Given the description of an element on the screen output the (x, y) to click on. 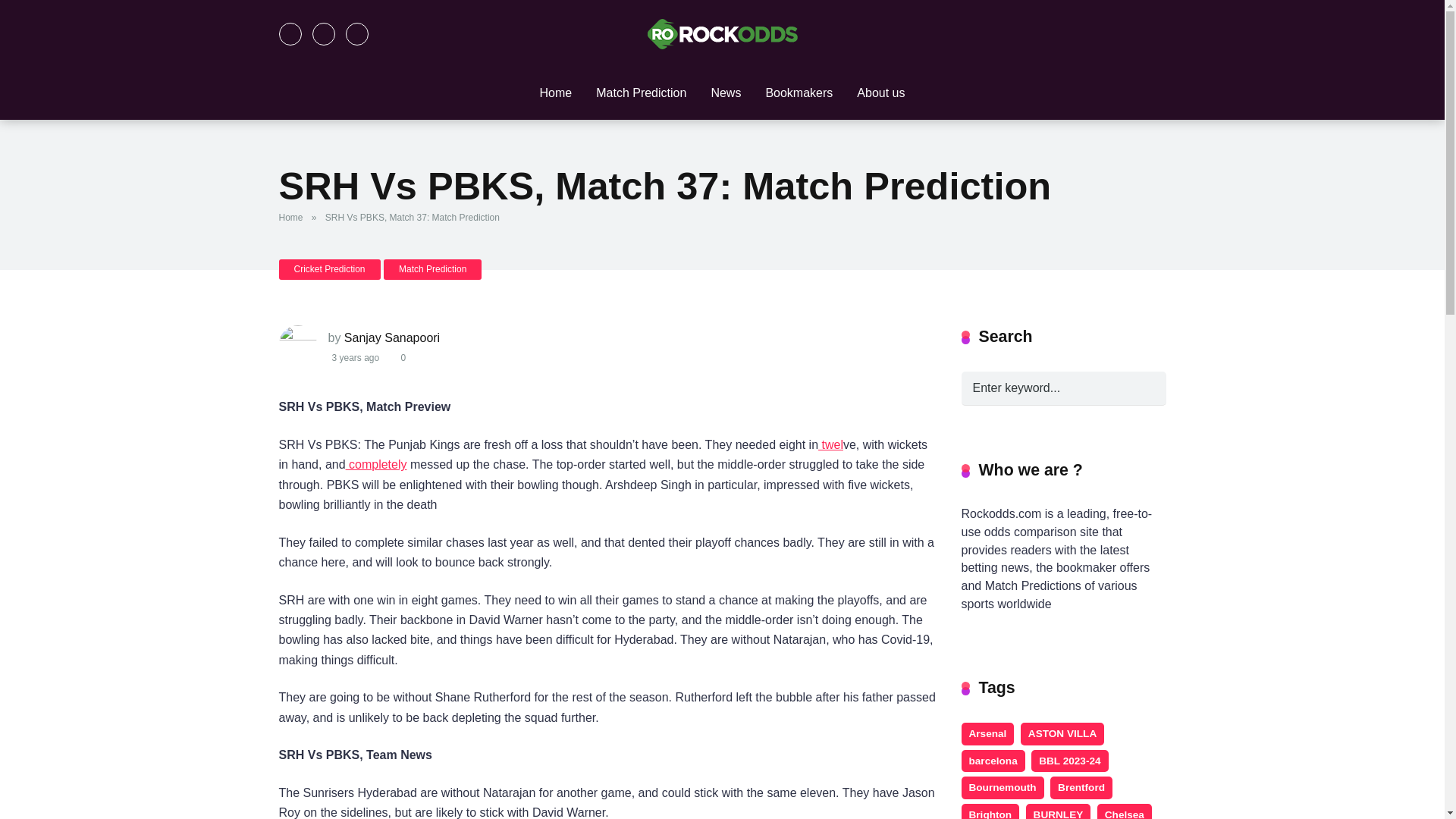
Match Prediction (432, 269)
barcelona (992, 761)
BURNLEY (1058, 811)
Brighton (990, 811)
Home (293, 217)
BBL 2023-24 (1069, 761)
Sanjay Sanapoori (391, 337)
Bookmakers (798, 93)
ASTON VILLA (1061, 733)
Brentford (1080, 787)
